Given the description of an element on the screen output the (x, y) to click on. 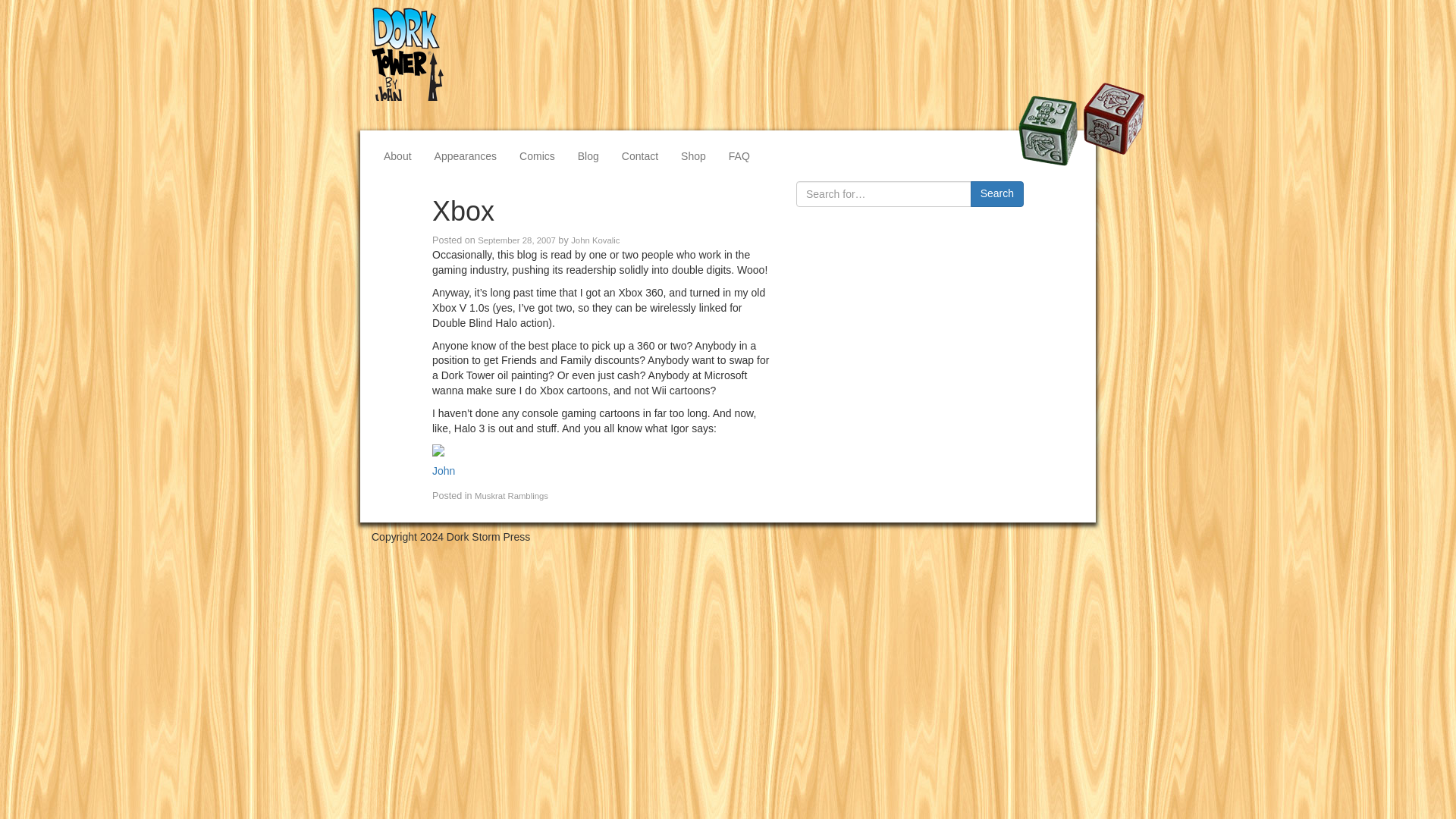
Search (997, 193)
September 28, 2007 (516, 239)
Search (997, 193)
Muskrat Ramblings (511, 495)
Comics (537, 155)
Search (997, 193)
John Kovalic (595, 239)
Contact (639, 155)
Appearances (465, 155)
John (443, 470)
About (397, 155)
Blog (588, 155)
Shop (693, 155)
FAQ (739, 155)
